Given the description of an element on the screen output the (x, y) to click on. 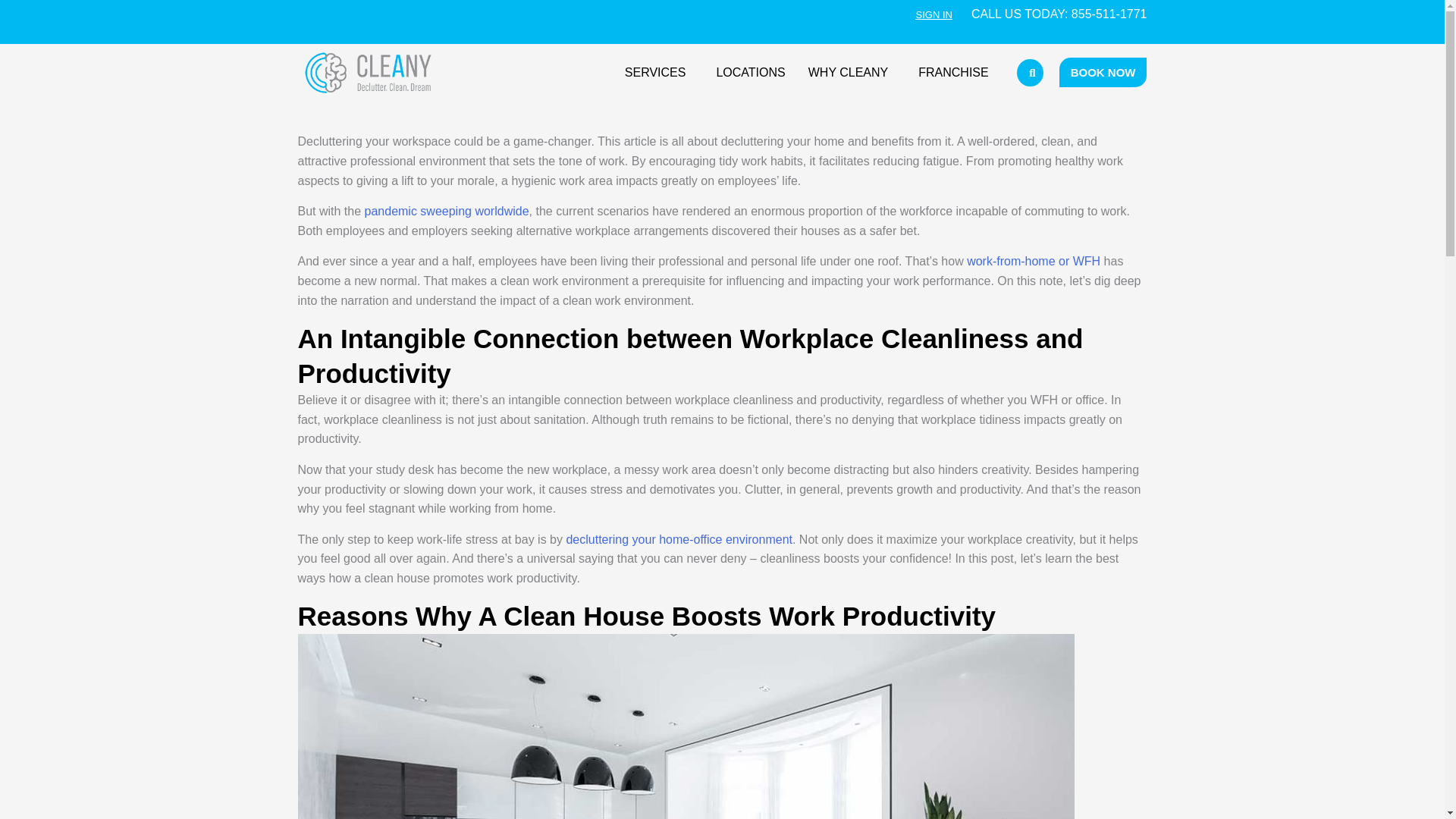
decluttering your home-office environment (679, 539)
SIGN IN (934, 14)
BOOK NOW (1103, 71)
work-from-home or WFH (1033, 260)
pandemic sweeping worldwide (447, 210)
FRANCHISE (952, 72)
SERVICES (658, 72)
WHY CLEANY (851, 72)
CALL US TODAY: 855-511-1771 (1059, 14)
LOCATIONS (750, 72)
